Given the description of an element on the screen output the (x, y) to click on. 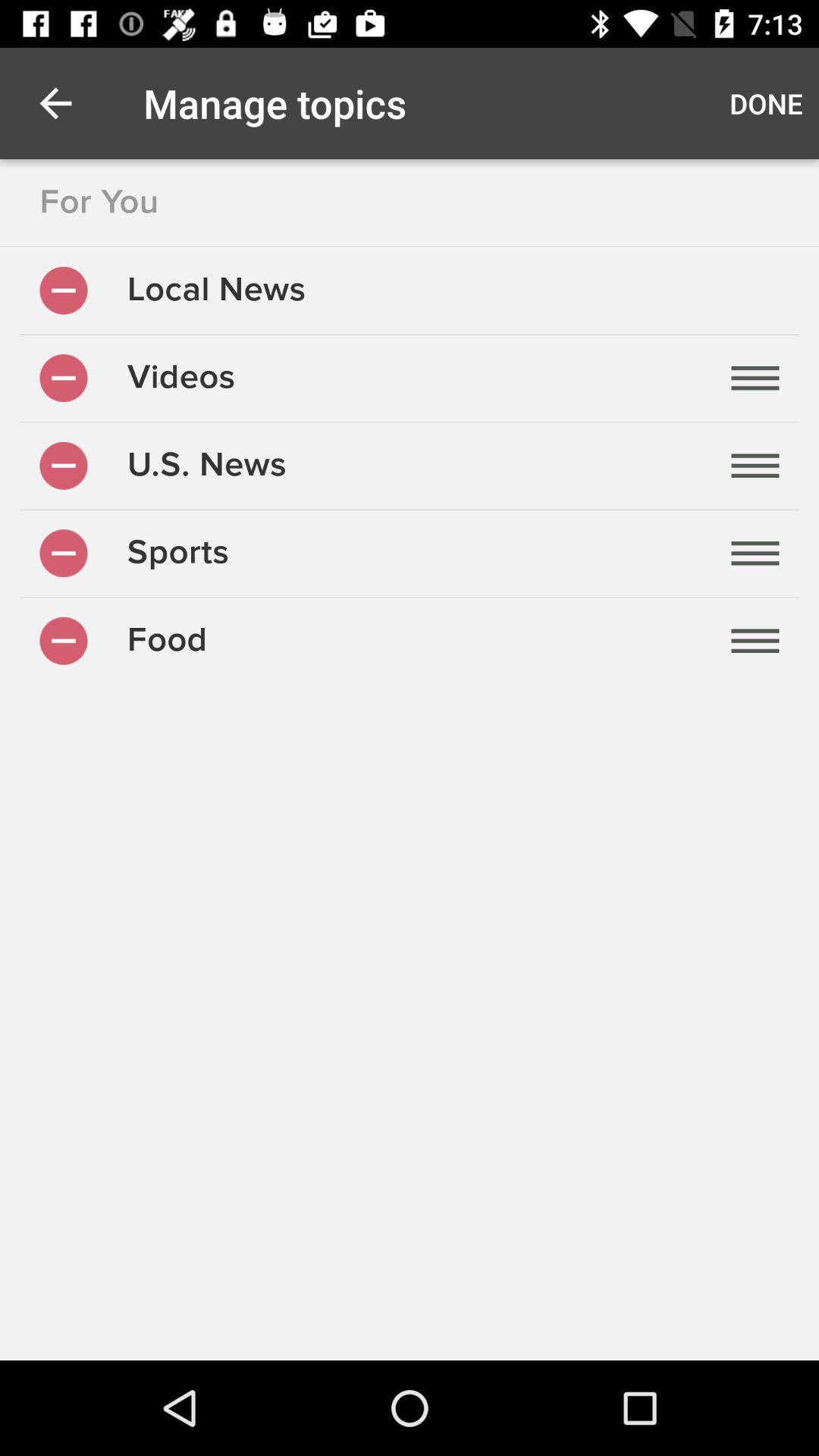
tap the item next to manage topics (766, 103)
